Given the description of an element on the screen output the (x, y) to click on. 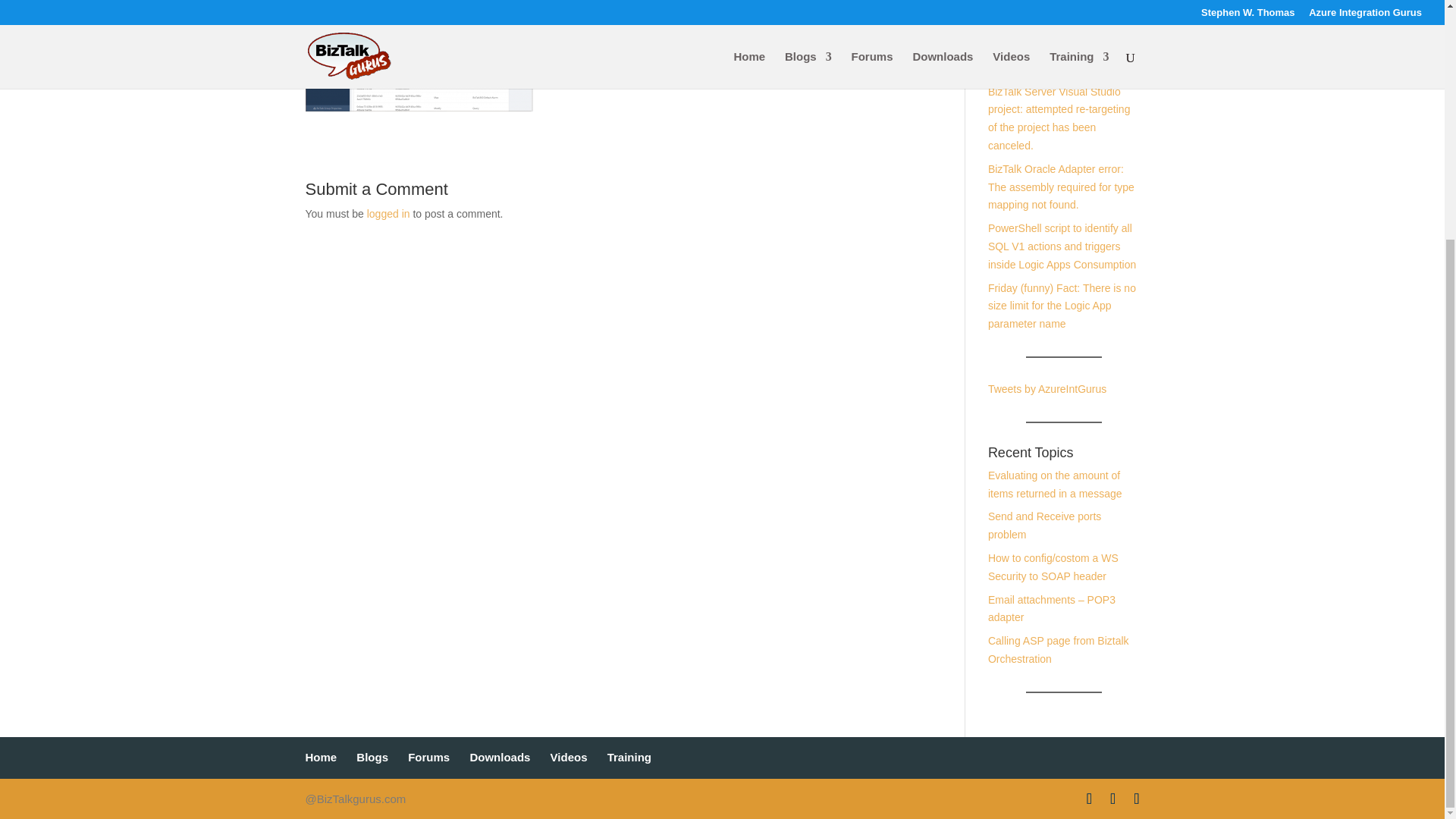
Send and Receive ports problem (1044, 525)
logged in (388, 214)
Evaluating on the amount of items returned in a message (1055, 484)
Tweets by AzureIntGurus (1047, 388)
